Given the description of an element on the screen output the (x, y) to click on. 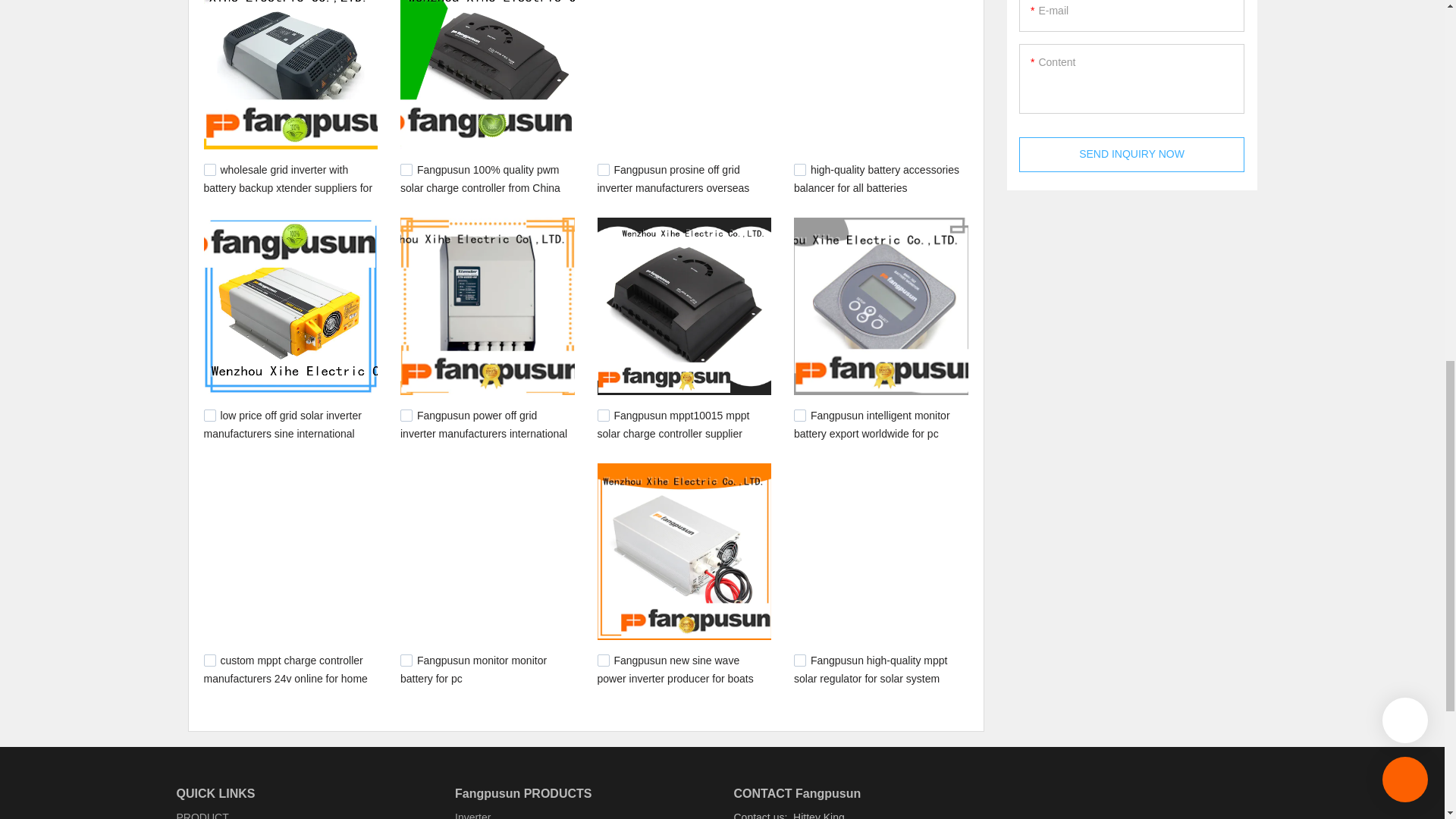
1283 (603, 169)
976 (603, 660)
968 (799, 660)
high-quality battery accessories balancer for all batteries (876, 178)
1498 (209, 169)
1409 (406, 169)
